Given the description of an element on the screen output the (x, y) to click on. 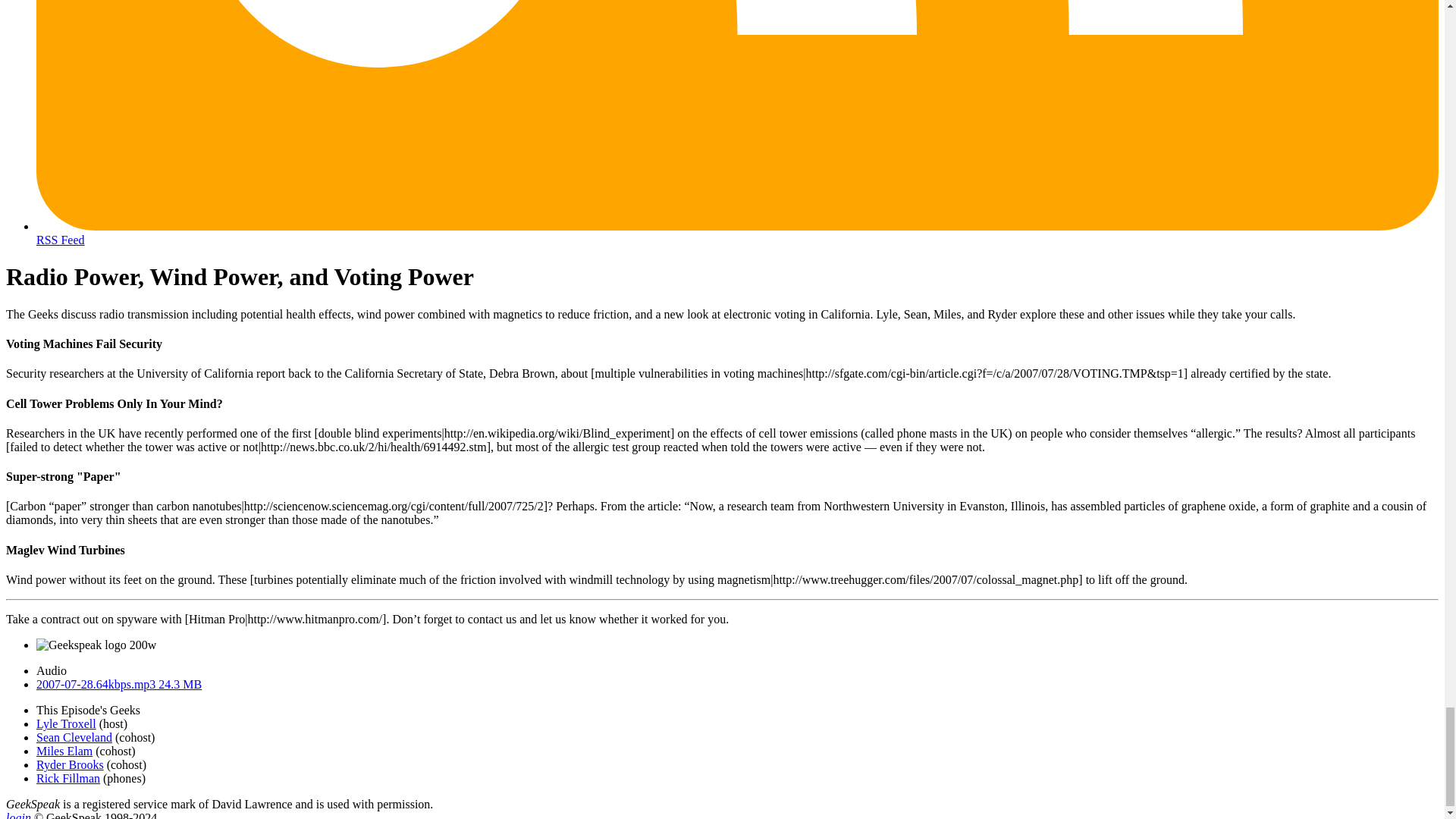
Sean Cleveland (74, 737)
2007-07-28.64kbps.mp3 24.3 MB (119, 684)
Lyle Troxell (66, 723)
Miles Elam (64, 750)
Ryder Brooks (69, 764)
Rick Fillman (68, 778)
